Given the description of an element on the screen output the (x, y) to click on. 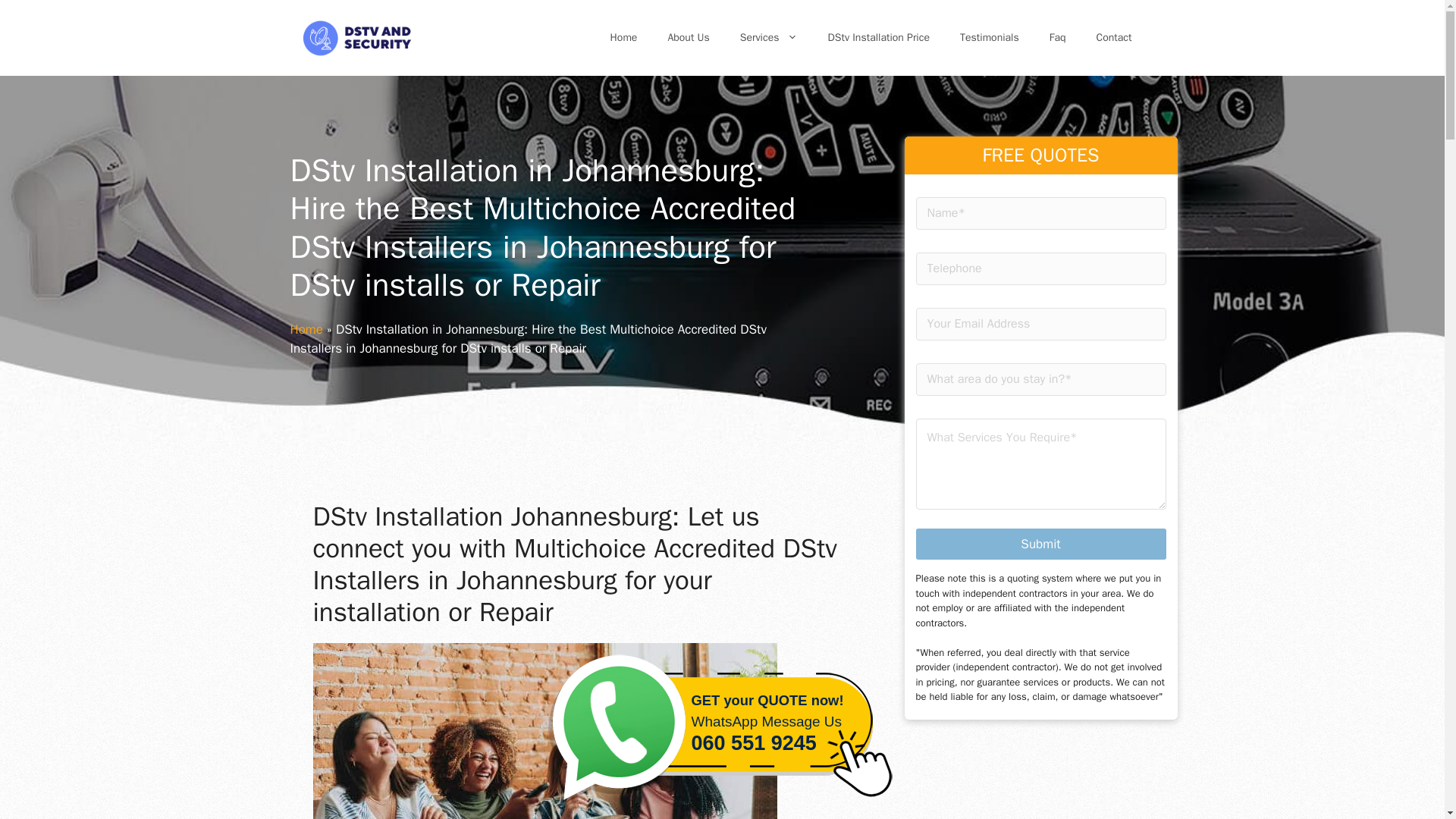
Faq (1057, 37)
Testimonials (988, 37)
Home (721, 732)
Submit (623, 37)
Home (1040, 543)
Services (305, 329)
About Us (768, 37)
DStv Installation Price (687, 37)
Contact (878, 37)
